Given the description of an element on the screen output the (x, y) to click on. 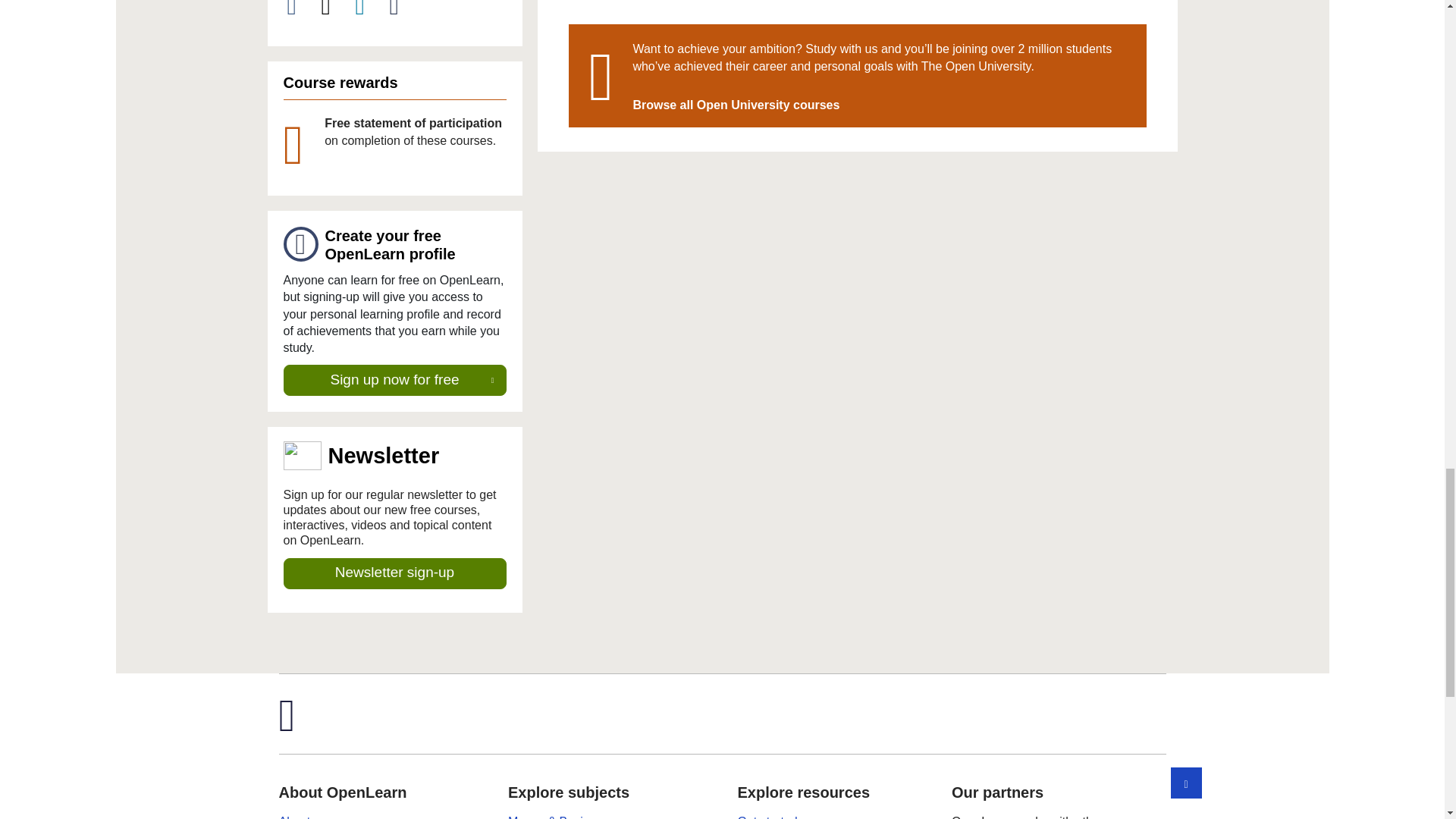
Share on Facebook (299, 9)
Share on LinkedIn (368, 9)
Share on Twitter (334, 9)
Sign up now for free (394, 380)
Share via Email (403, 9)
